Given the description of an element on the screen output the (x, y) to click on. 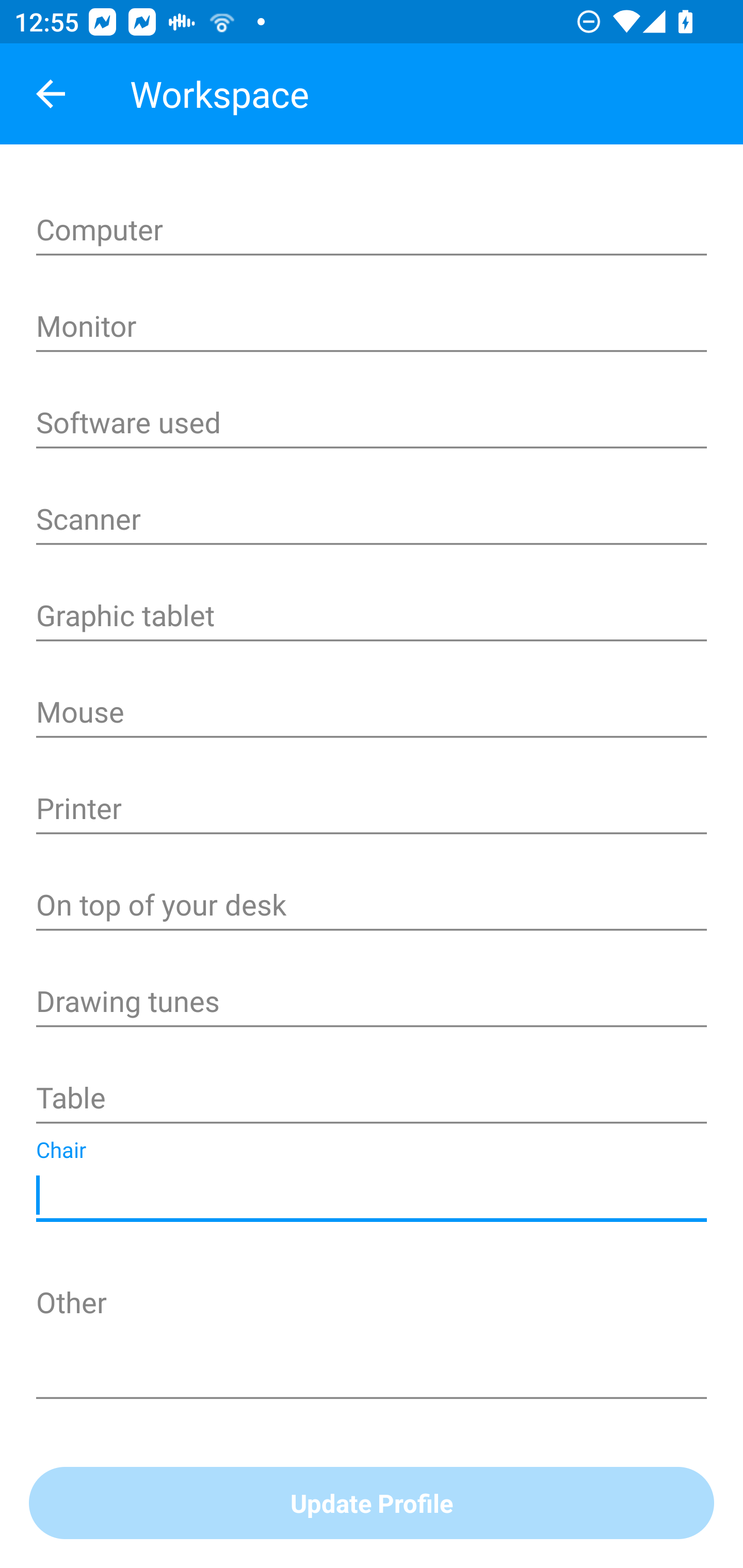
Navigate up (50, 93)
Computer (371, 230)
Monitor (371, 328)
Software used (371, 423)
Scanner (371, 520)
Graphic tablet (371, 616)
Mouse (371, 713)
Printer (371, 809)
On top of your desk (371, 906)
Drawing tunes (371, 1002)
Table (371, 1099)
Chair (371, 1195)
Other (371, 1340)
Update Profile (371, 1503)
